Given the description of an element on the screen output the (x, y) to click on. 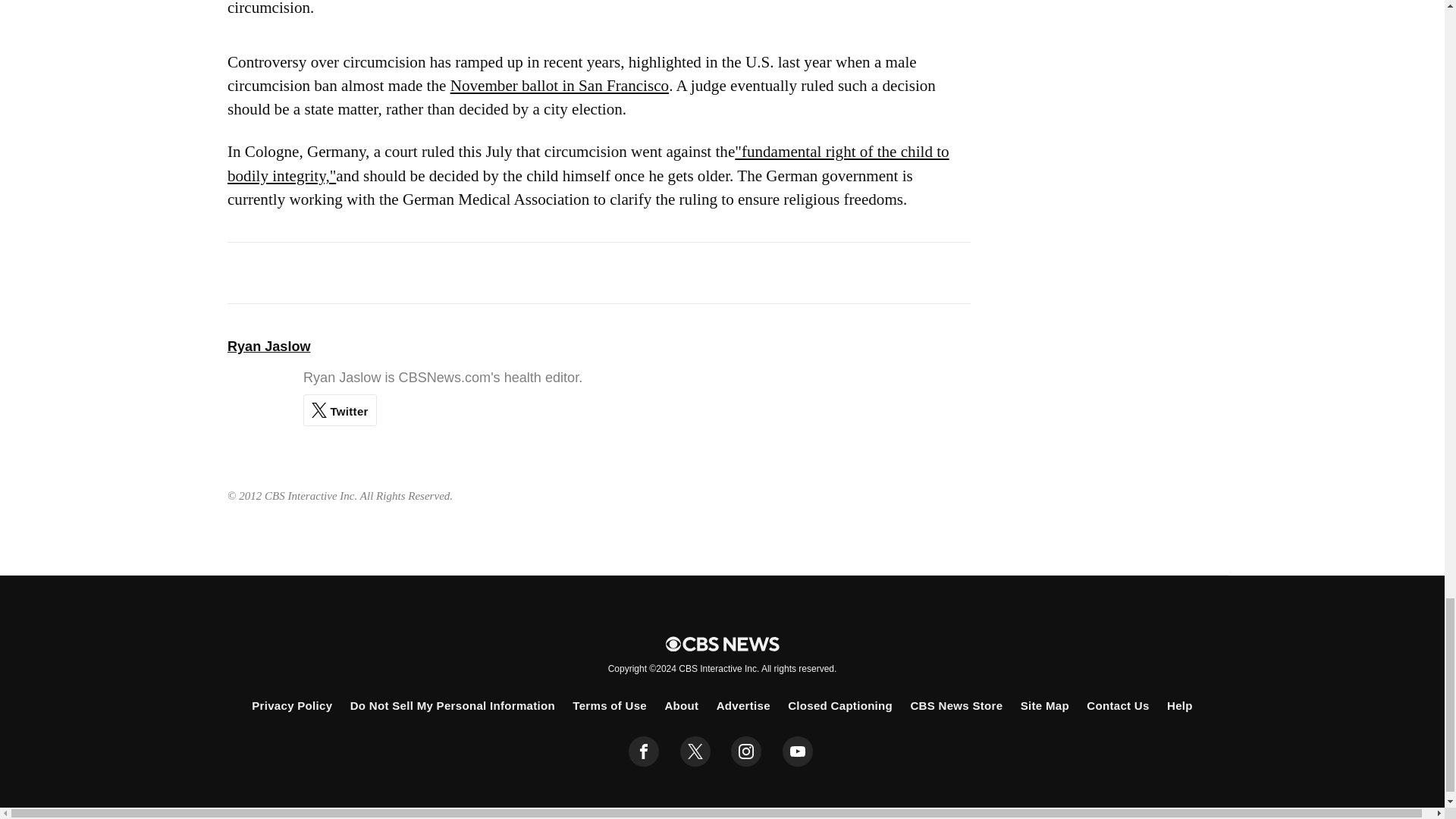
instagram (745, 751)
twitter (694, 751)
facebook (643, 751)
youtube (797, 751)
